Given the description of an element on the screen output the (x, y) to click on. 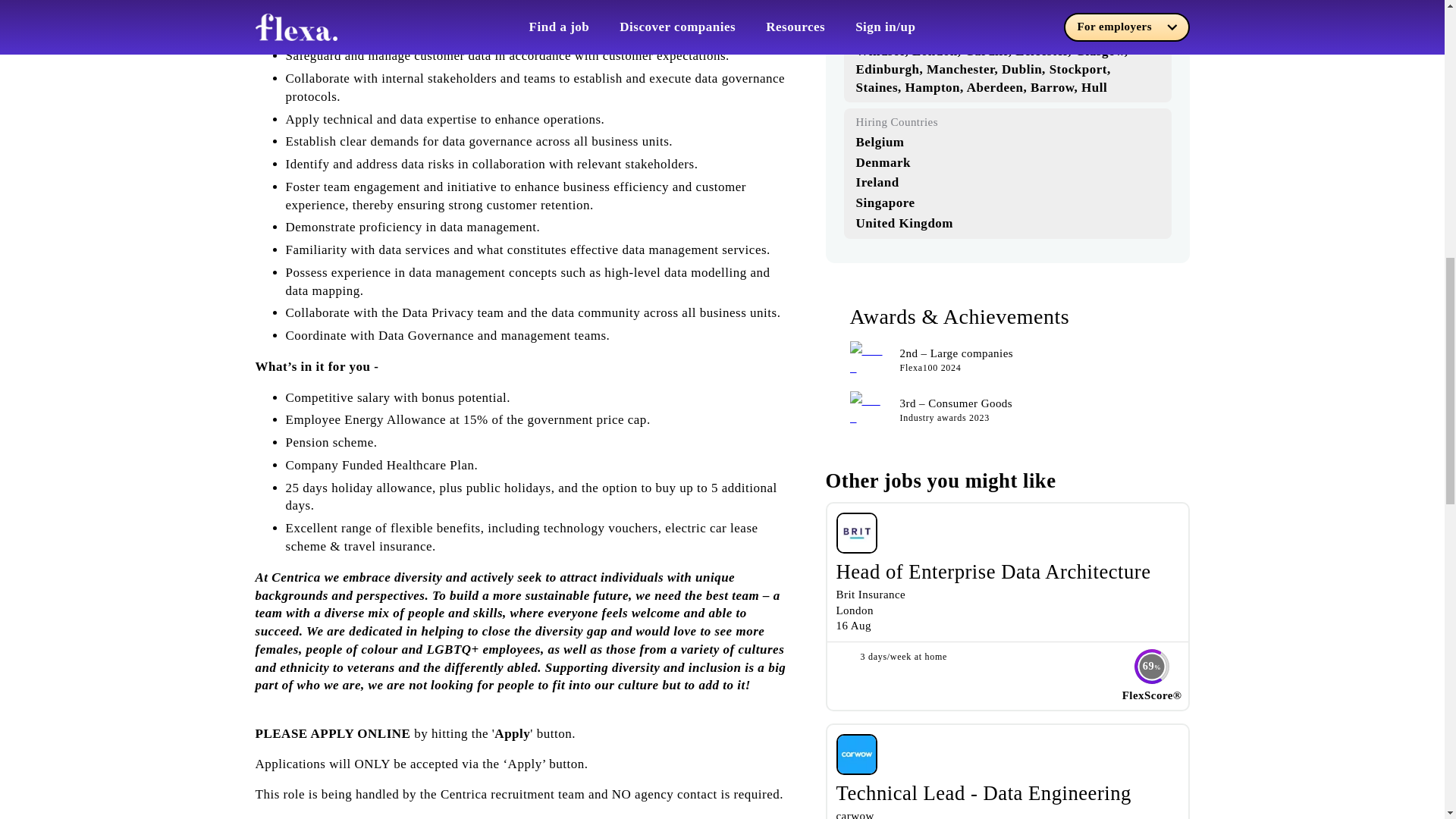
Head of Enterprise Data Architecture (992, 571)
Brit Insurance (870, 594)
carwow (854, 814)
Technical Lead - Data Engineering (983, 793)
